Given the description of an element on the screen output the (x, y) to click on. 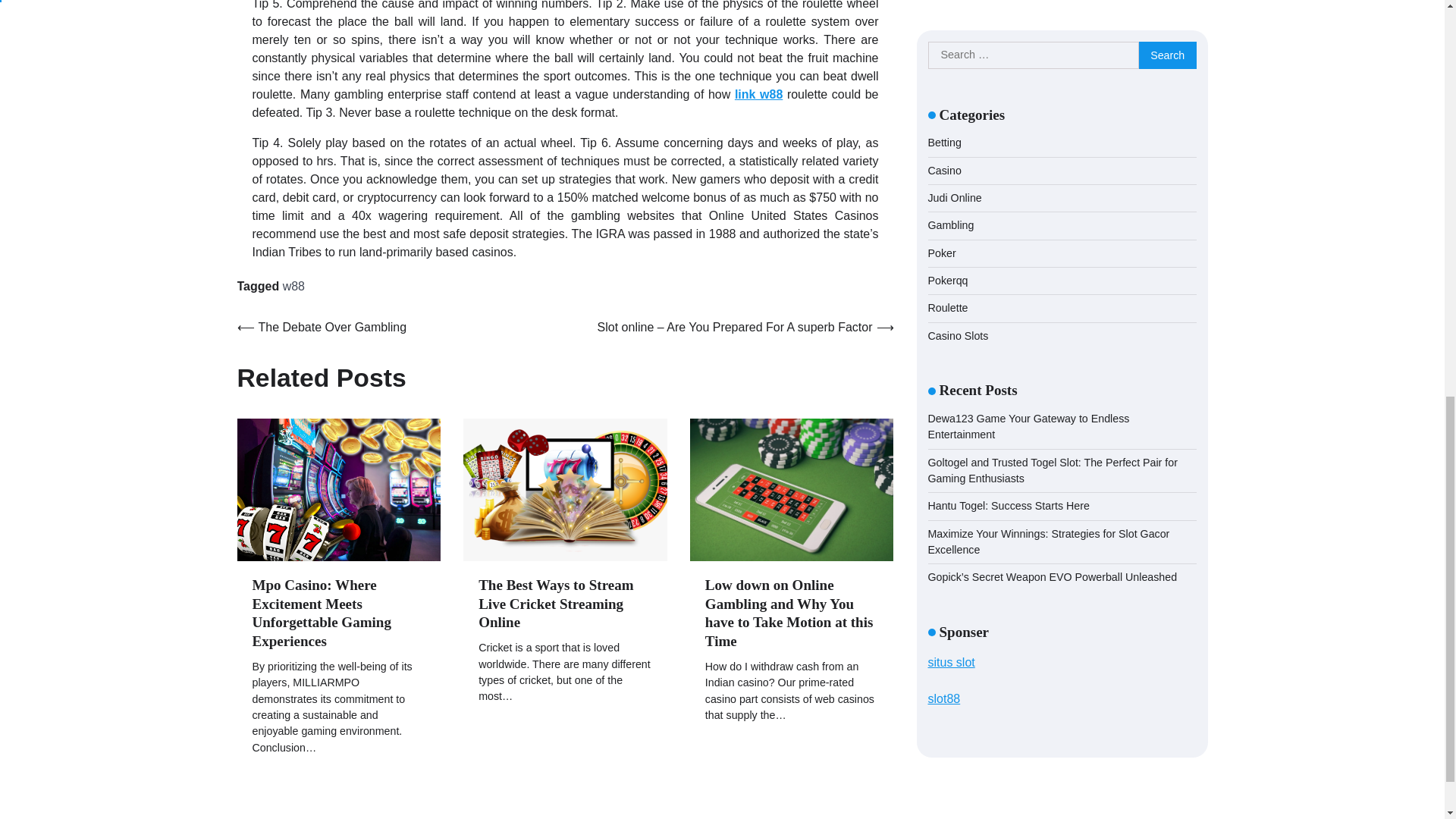
The Best Ways to Stream Live Cricket Streaming Online (556, 603)
link w88 (759, 93)
w88 (293, 286)
